Given the description of an element on the screen output the (x, y) to click on. 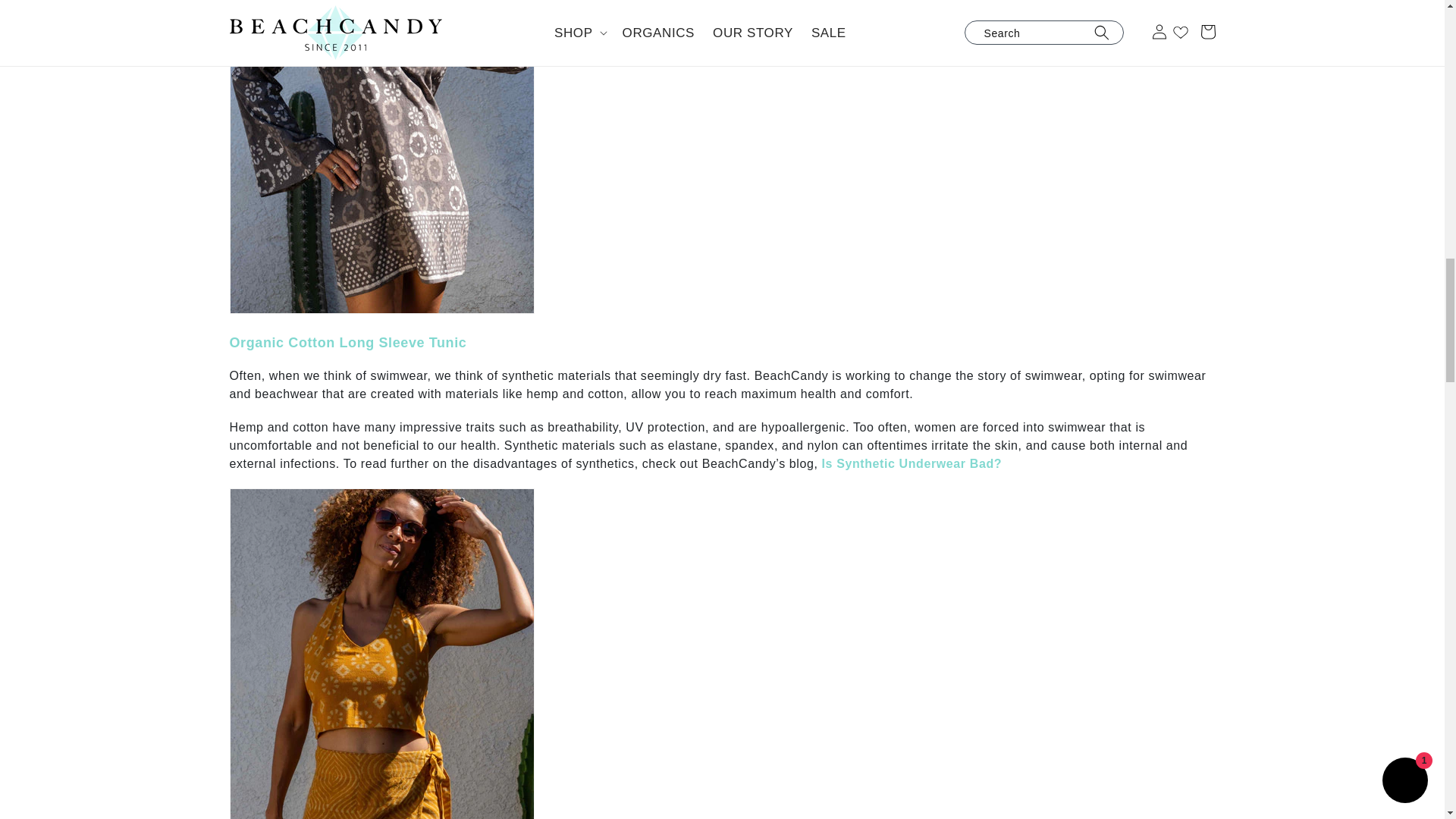
Organic Cotton Long Sleeve Tunic (346, 342)
Is Synthetic Underwear Bad? (912, 463)
